Given the description of an element on the screen output the (x, y) to click on. 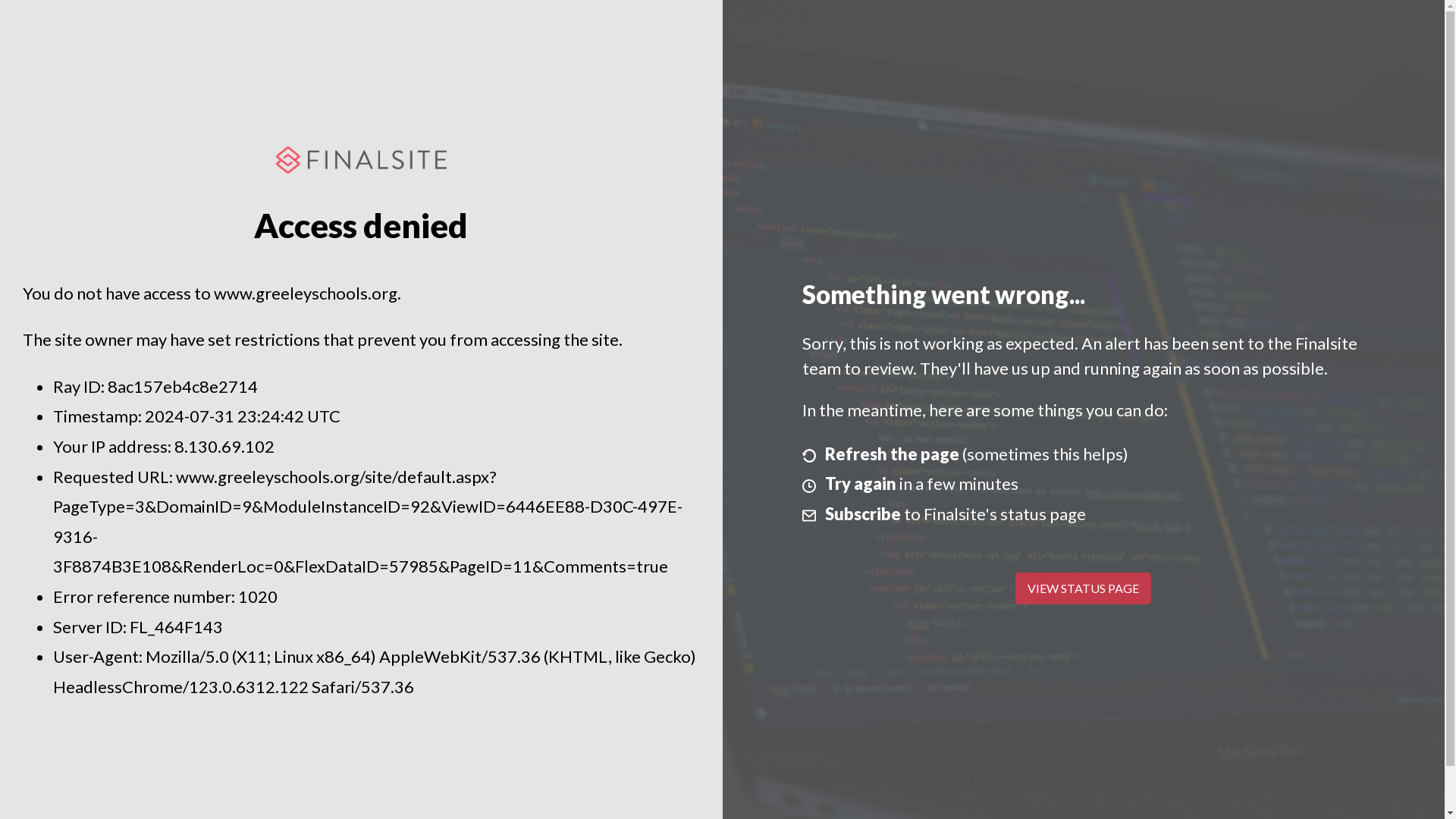
VIEW STATUS PAGE (1082, 588)
